Given the description of an element on the screen output the (x, y) to click on. 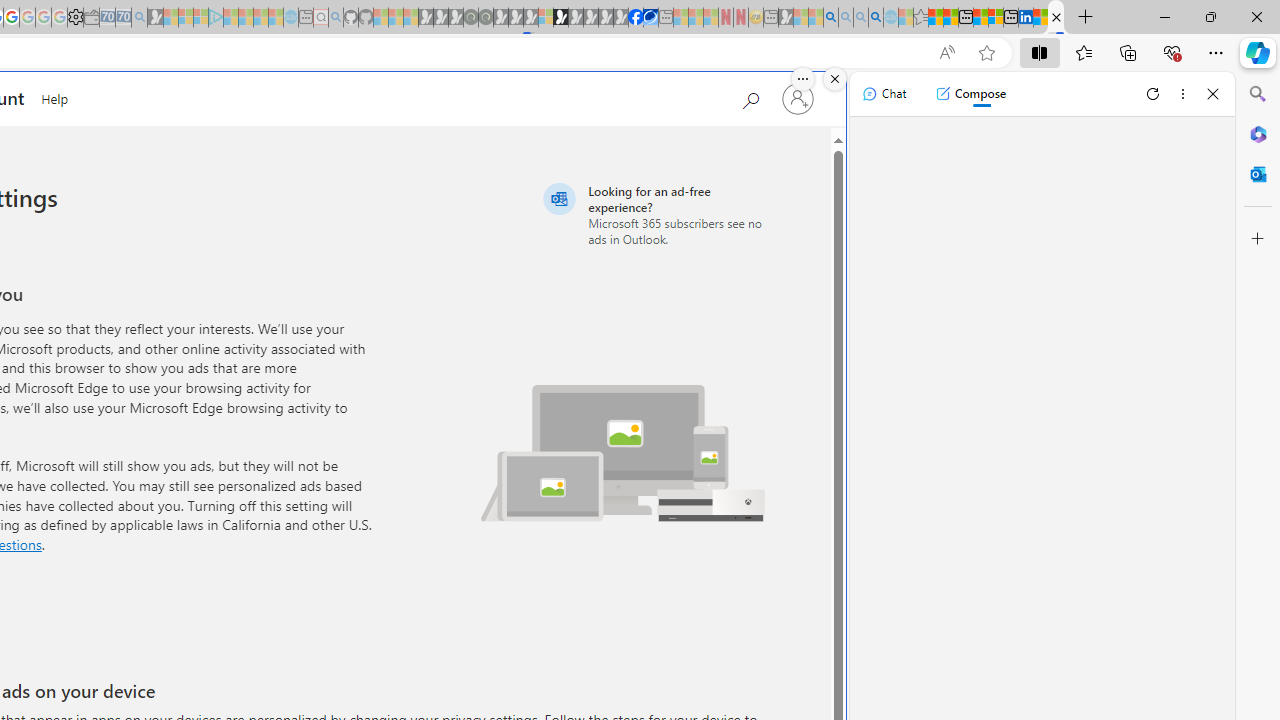
Wallet - Sleeping (91, 17)
Aberdeen, Hong Kong SAR weather forecast | Microsoft Weather (950, 17)
Help (55, 96)
